Given the description of an element on the screen output the (x, y) to click on. 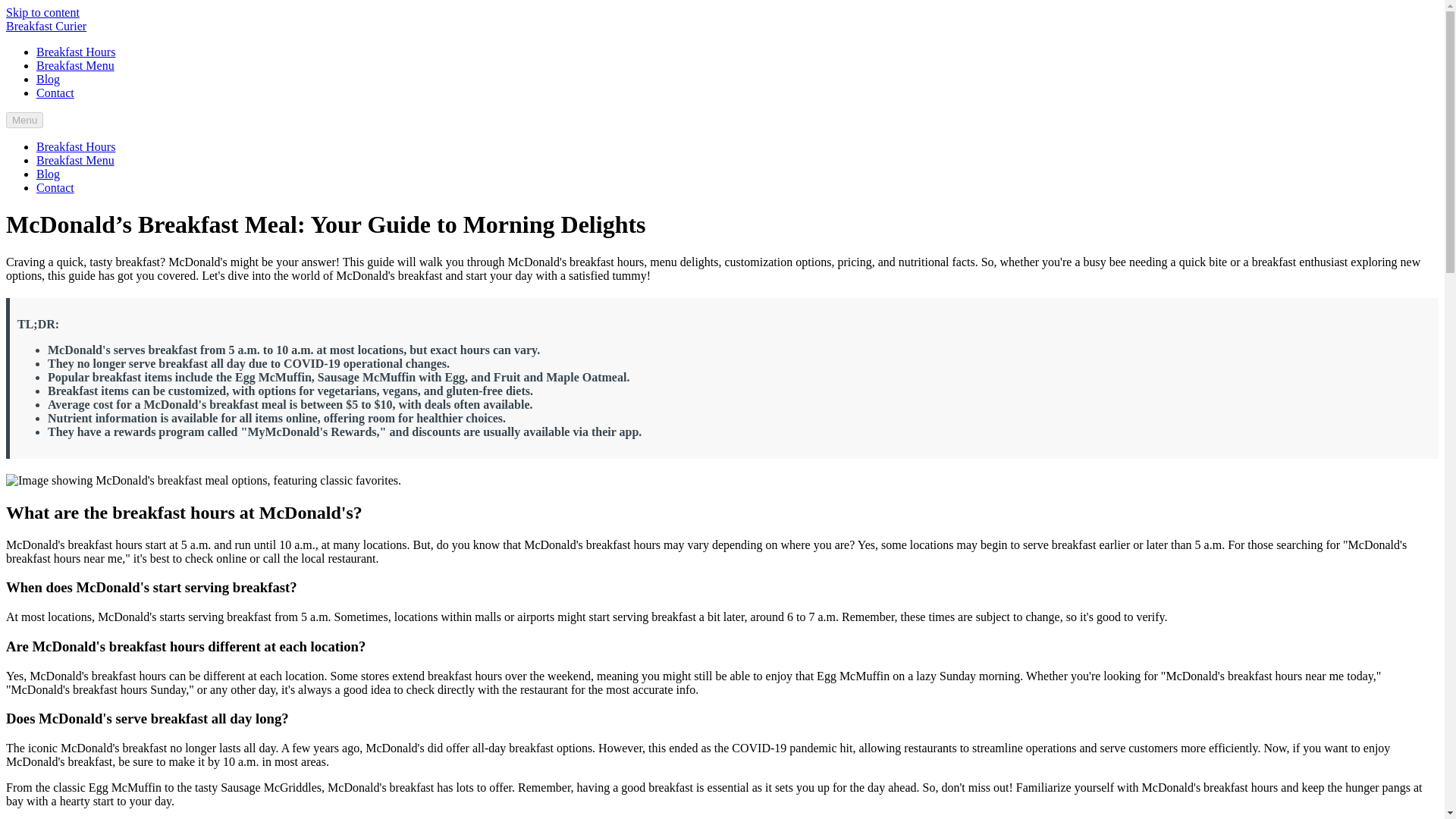
Blog (47, 78)
Menu (24, 119)
Breakfast Curier (45, 25)
Breakfast Menu (75, 160)
Breakfast Menu (75, 65)
Breakfast Hours (75, 51)
Blog (47, 173)
Skip to content (42, 11)
Breakfast Hours (75, 146)
Home (45, 25)
